Given the description of an element on the screen output the (x, y) to click on. 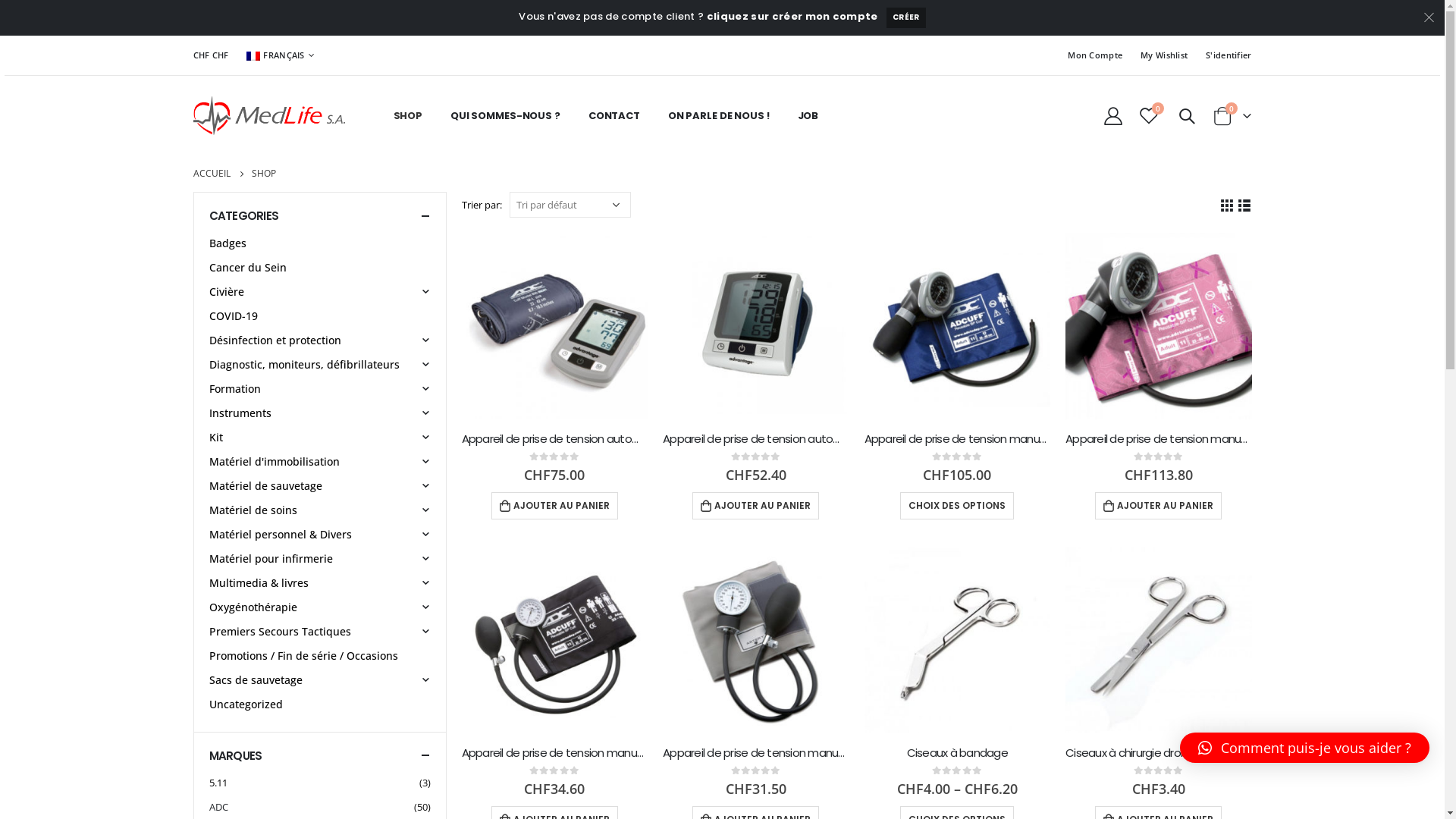
Uncategorized Element type: text (245, 703)
CHF CHF Element type: text (212, 55)
ON PARLE DE NOUS ! Element type: text (718, 114)
Vue sur la grille Element type: hover (1226, 204)
CHOIX DES OPTIONS Element type: text (956, 505)
Instruments Element type: text (240, 412)
Kit Element type: text (215, 436)
JOB Element type: text (808, 114)
Formation Element type: text (234, 388)
Mon Compte Element type: text (1094, 55)
AJOUTER AU PANIER Element type: text (1158, 505)
Cancer du Sein Element type: text (247, 266)
AJOUTER AU PANIER Element type: text (755, 505)
SHOP Element type: text (407, 114)
QUI SOMMES-NOUS ? Element type: text (505, 114)
Badges Element type: text (227, 242)
Appareil de prise de tension automatique au poignet Element type: text (755, 438)
ACCUEIL Element type: text (210, 173)
0 Element type: text (1148, 115)
5.11 Element type: text (227, 782)
Multimedia & livres Element type: text (258, 582)
Premiers Secours Tactiques Element type: text (280, 630)
S'identifier Element type: text (1223, 55)
AJOUTER AU PANIER Element type: text (554, 505)
Sacs de sauvetage Element type: text (255, 679)
Comment puis-je vous aider ? Element type: text (1304, 747)
My Wishlist Element type: text (1163, 55)
CONTACT Element type: text (613, 114)
Vue de la liste Element type: hover (1243, 204)
COVID-19 Element type: text (233, 315)
My Account Element type: hover (1113, 115)
Appareil de prise de tension automatique au bras Element type: text (554, 438)
